Given the description of an element on the screen output the (x, y) to click on. 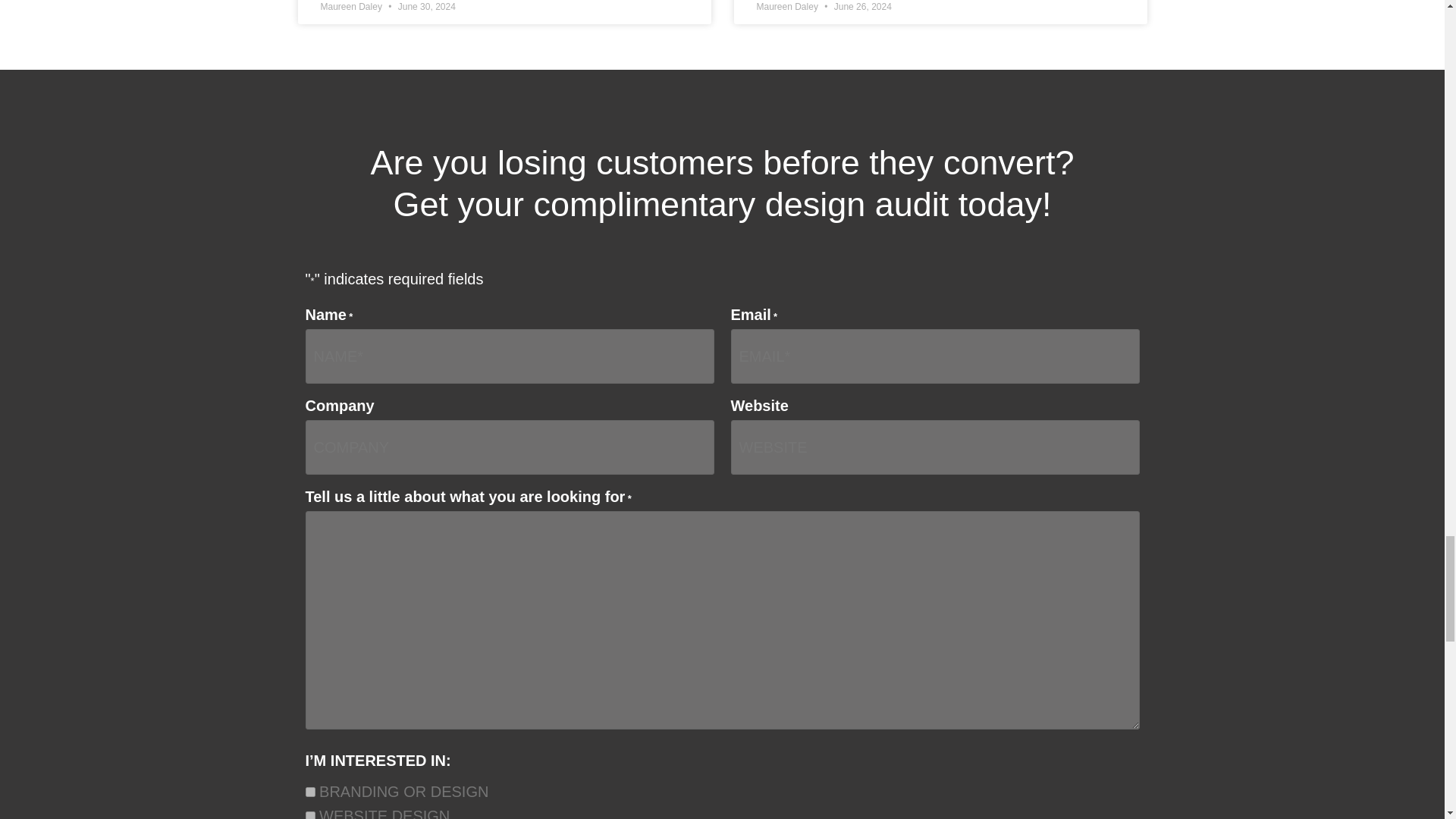
BRANDING OR DESIGN (309, 791)
WEBSITE DESIGN (309, 815)
